Given the description of an element on the screen output the (x, y) to click on. 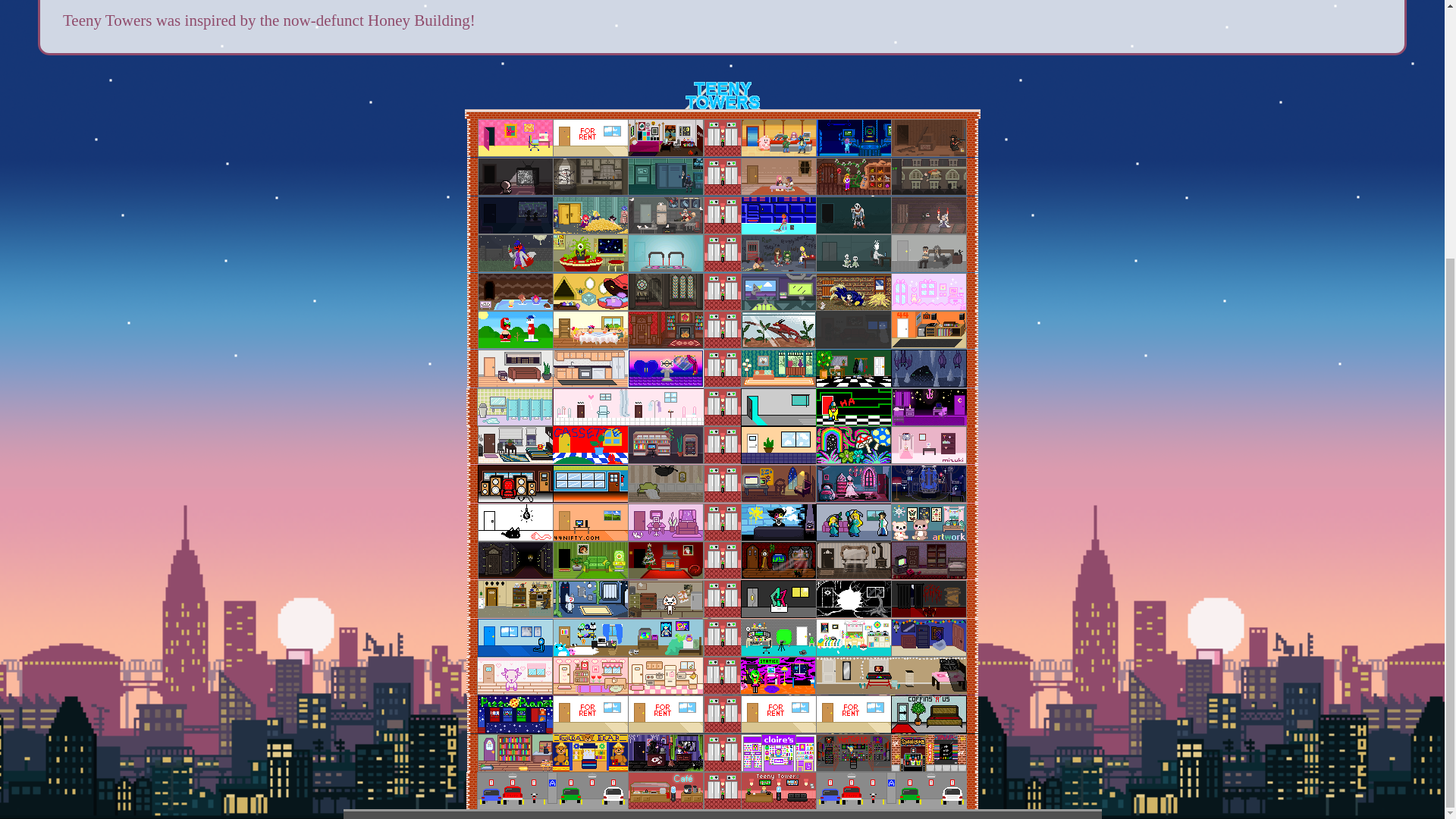
Isaac from the Binding of Isaac watching TV (515, 176)
Honey Building (419, 20)
Silent Hill 4: The Room (590, 176)
Radic and Farnsworth at a Pokemon Center (778, 137)
Metroid research at Ceres Space Station (853, 137)
Snake and Otacon from Metal Gear Solid (665, 176)
Based on the artist's actual teenage bedroom! (665, 137)
Utena Tenjou and Anthy Himemiya having tea (778, 176)
